Given the description of an element on the screen output the (x, y) to click on. 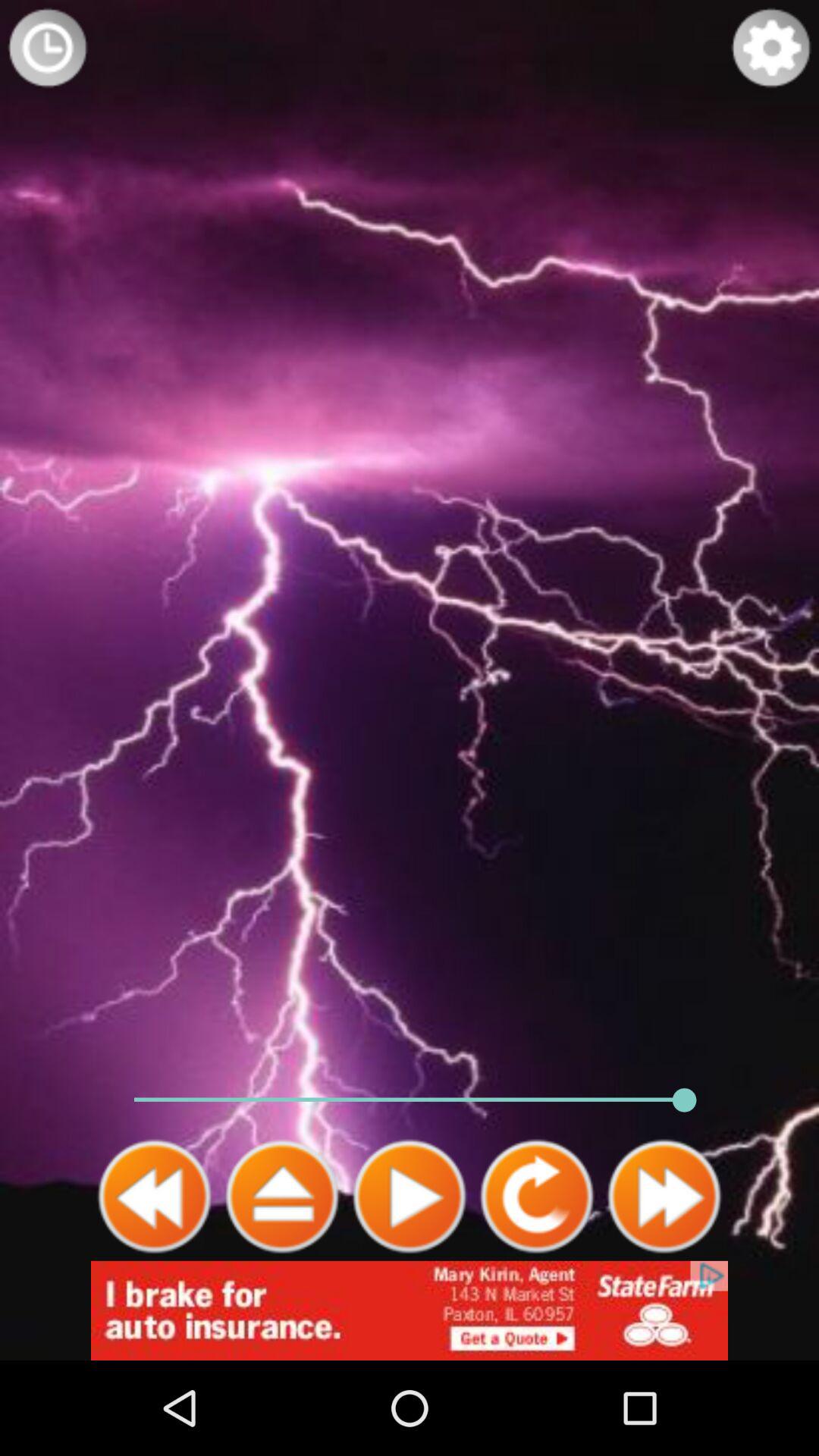
open settings (771, 47)
